Given the description of an element on the screen output the (x, y) to click on. 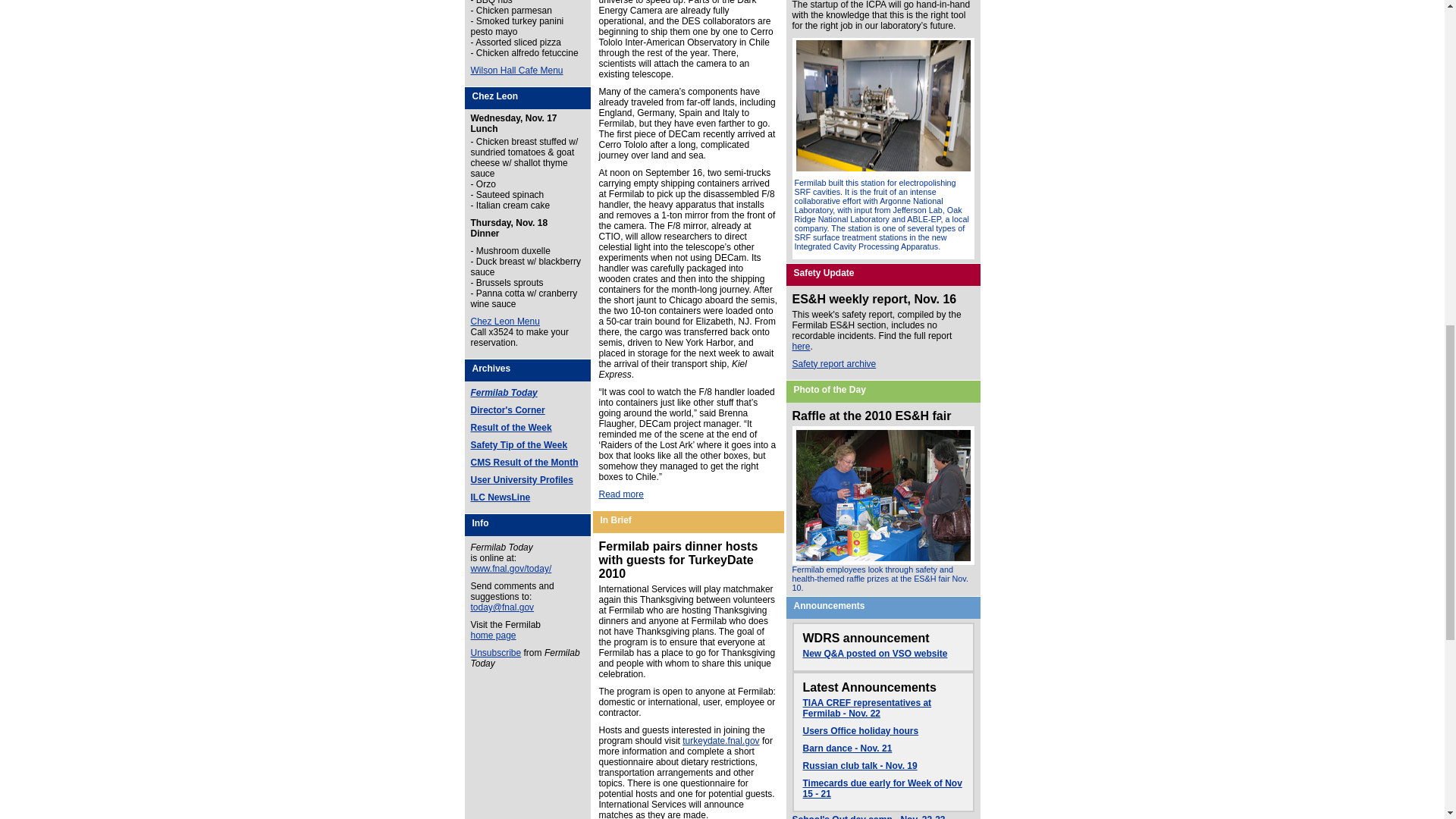
home page (492, 634)
CMS Result of the Month (524, 462)
User University Profiles (521, 480)
ILC NewsLine (499, 497)
Read more (620, 493)
Wilson Hall Cafe Menu (516, 70)
Result of the Week (510, 427)
Safety report archive (834, 363)
Chez Leon Menu (504, 321)
Director's Corner (507, 409)
here (800, 346)
Unsubscribe (495, 652)
turkeydate.fnal.gov (720, 740)
Safety Tip of the Week (518, 444)
Fermilab Today (503, 392)
